Given the description of an element on the screen output the (x, y) to click on. 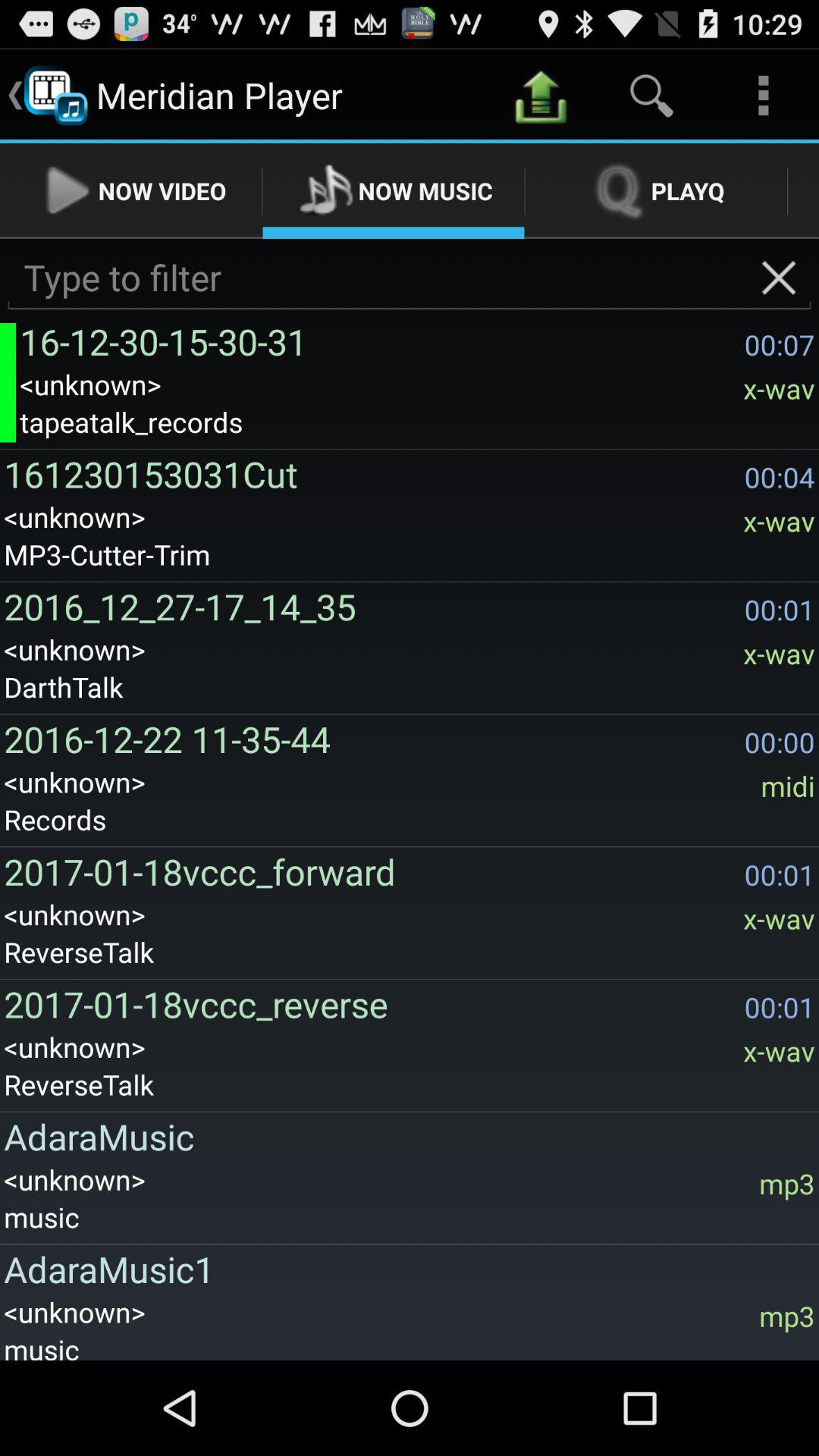
open the item next to the x-wav app (369, 473)
